Given the description of an element on the screen output the (x, y) to click on. 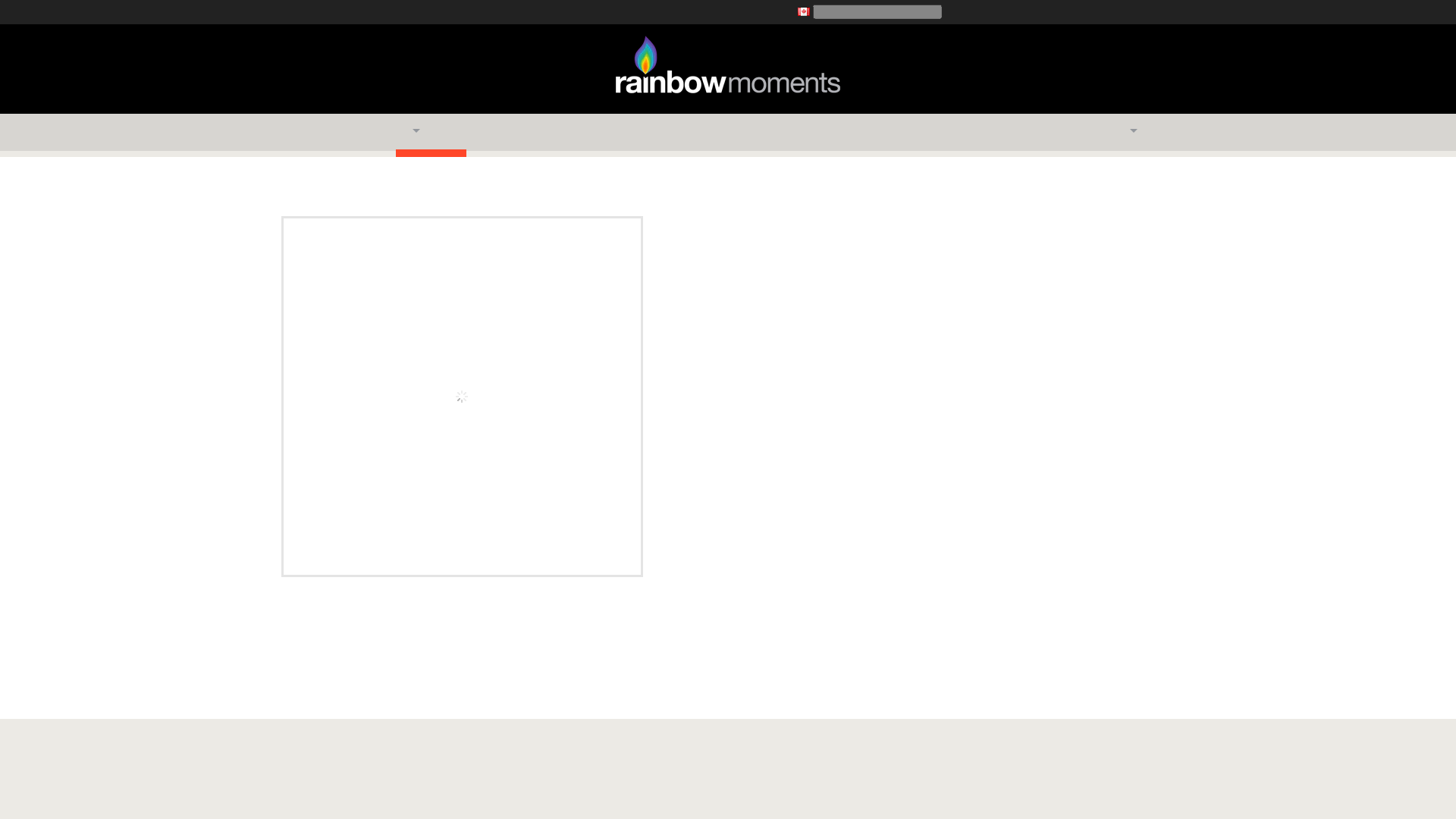
WHOLESALE CLIENTS (1120, 48)
ECOGO (515, 12)
RAINBOW MOMENTS (414, 12)
CHECKOUT (1146, 11)
GLOCO (313, 12)
SIGN-IN (1079, 11)
